Given the description of an element on the screen output the (x, y) to click on. 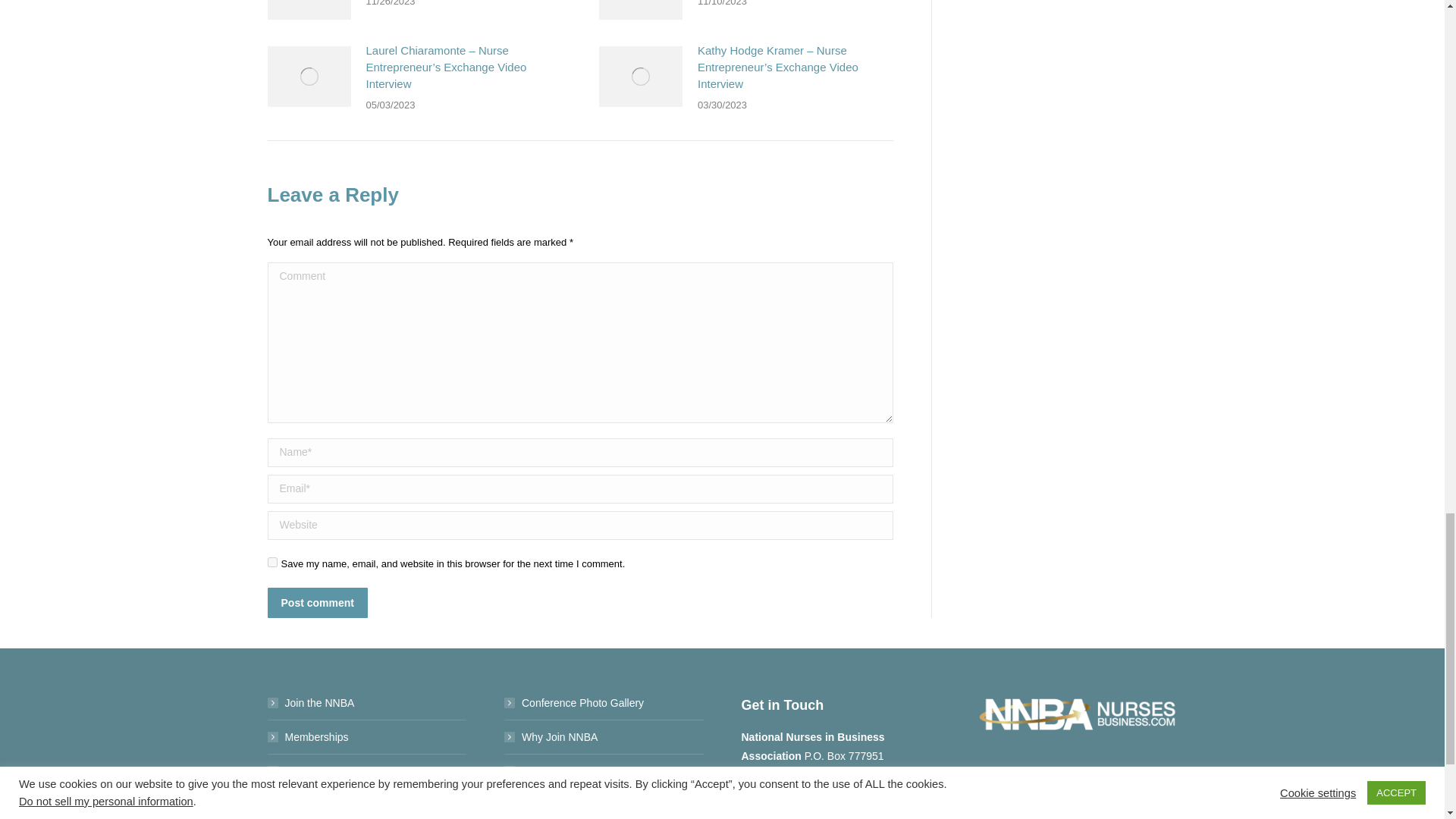
yes (271, 562)
